Given the description of an element on the screen output the (x, y) to click on. 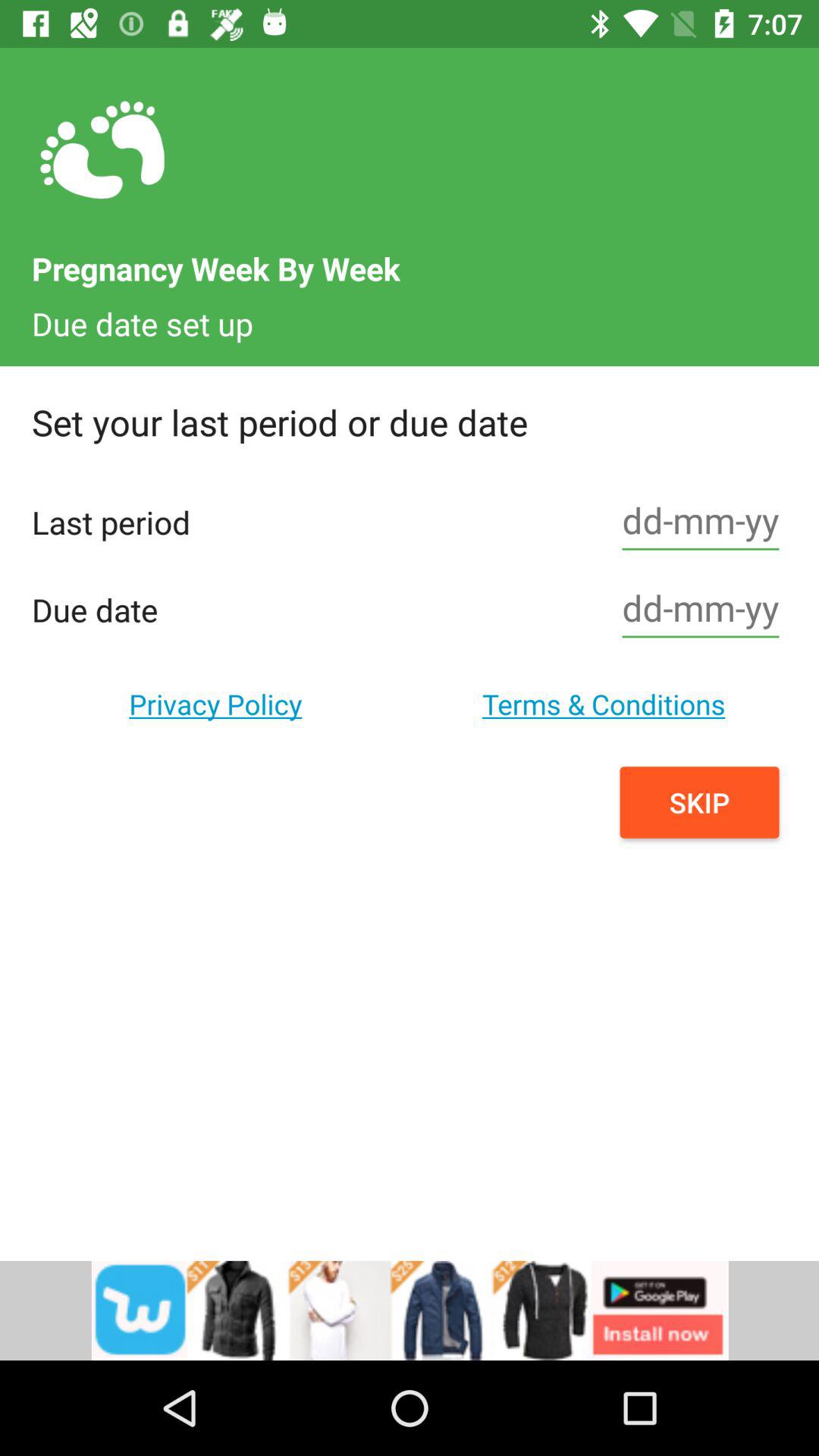
calender (700, 609)
